Given the description of an element on the screen output the (x, y) to click on. 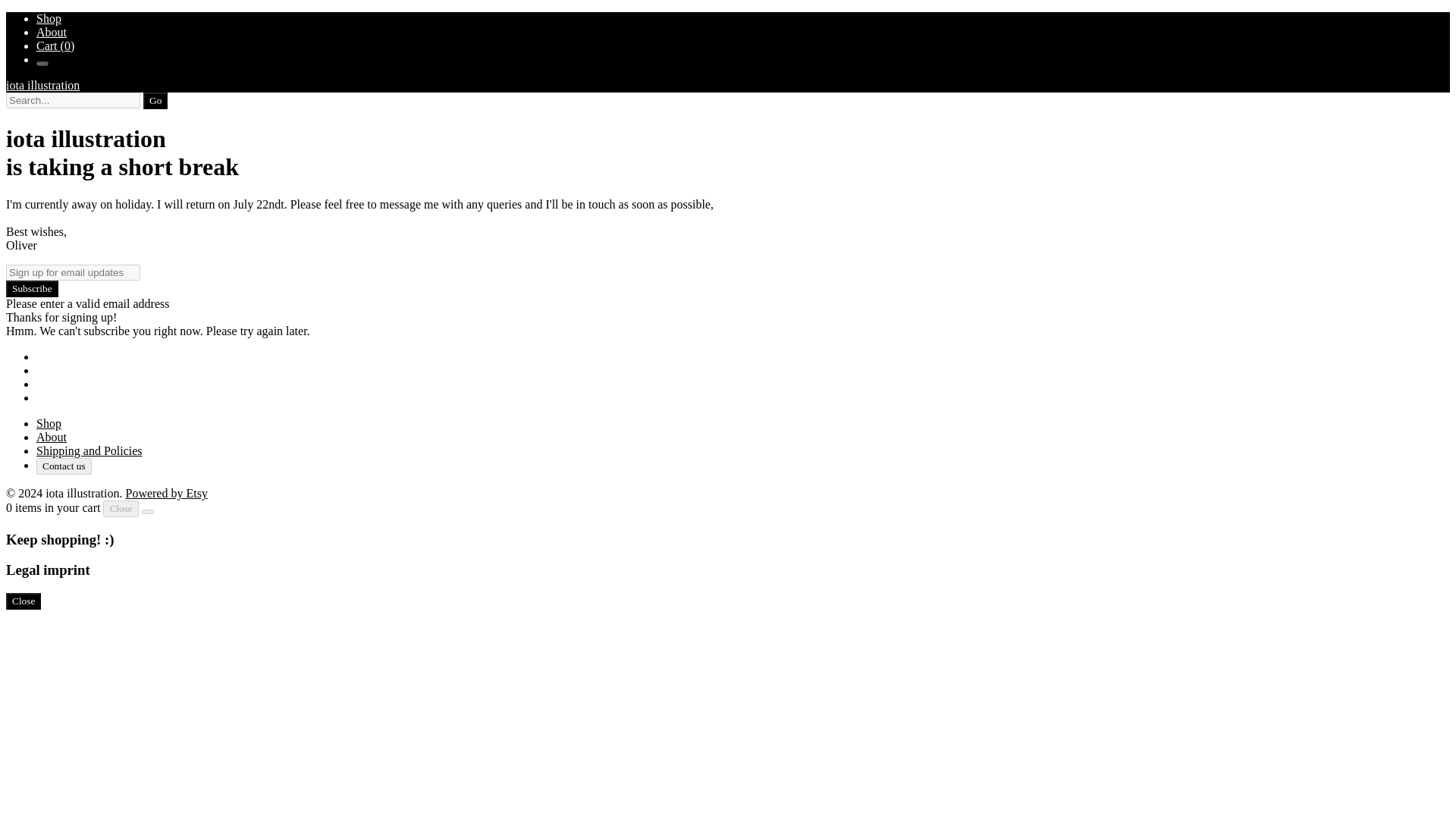
Shipping and Policies (89, 450)
Close (120, 508)
Subscribe (31, 288)
Contact us (63, 466)
Powered by Etsy (165, 492)
Shop (48, 18)
Go (154, 100)
Shop (48, 422)
Subscribe (31, 288)
About (51, 31)
